Given the description of an element on the screen output the (x, y) to click on. 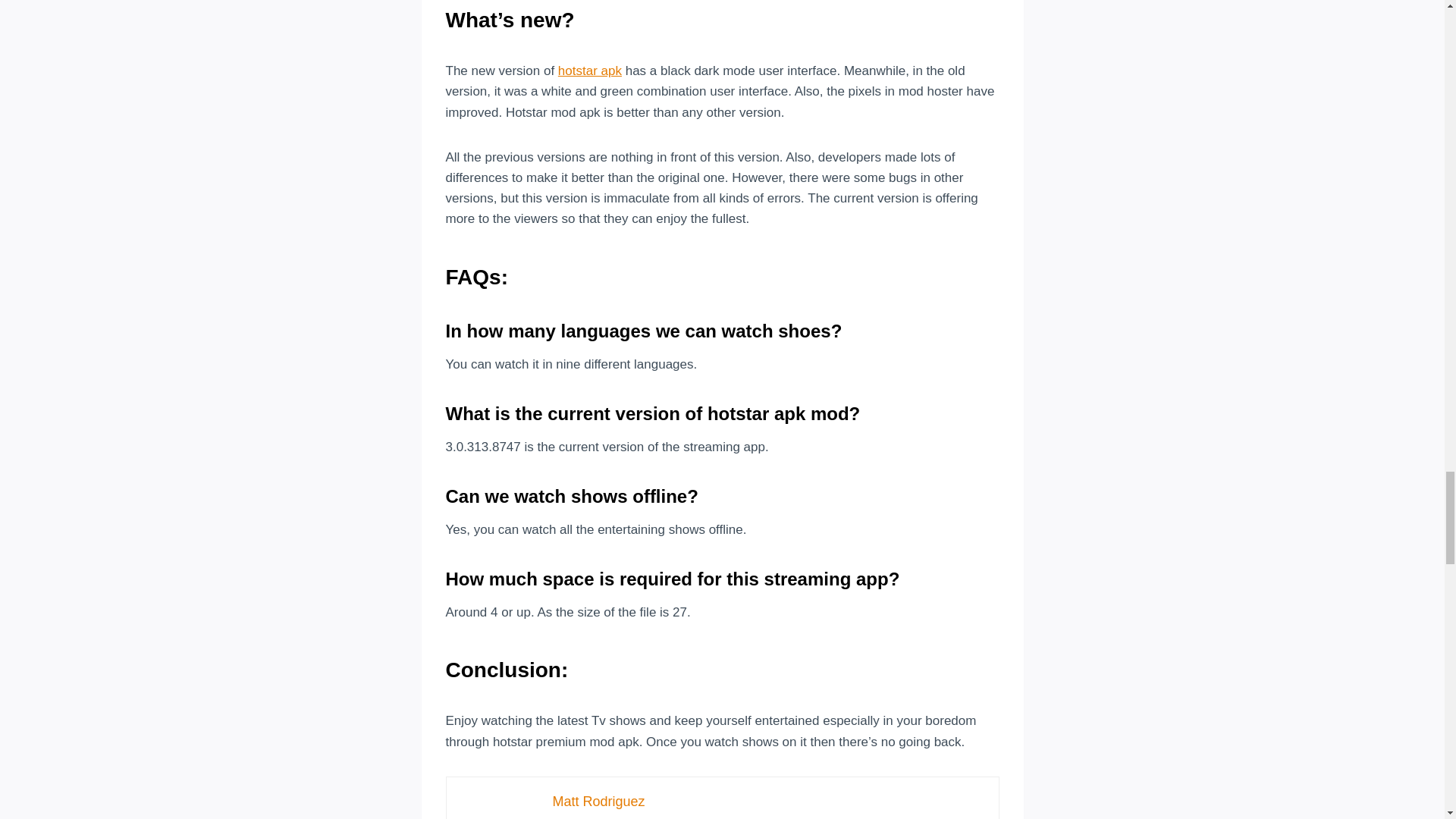
hotstar apk (589, 70)
Matt Rodriguez (598, 801)
